Given the description of an element on the screen output the (x, y) to click on. 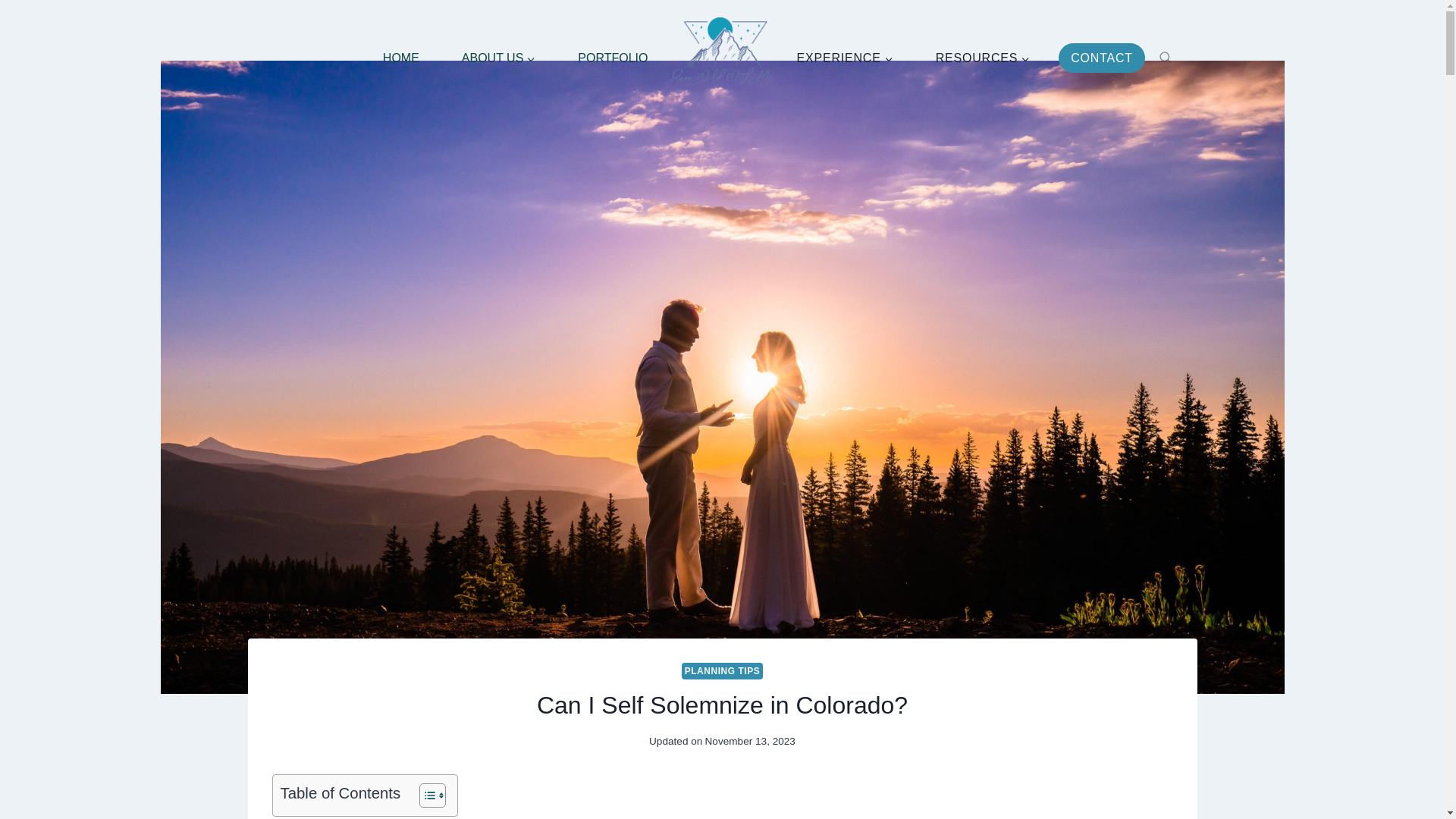
EXPERIENCE (844, 57)
RESOURCES (982, 57)
CONTACT (1101, 57)
PLANNING TIPS (721, 670)
HOME (401, 58)
ABOUT US (499, 58)
PORTFOLIO (612, 58)
